Given the description of an element on the screen output the (x, y) to click on. 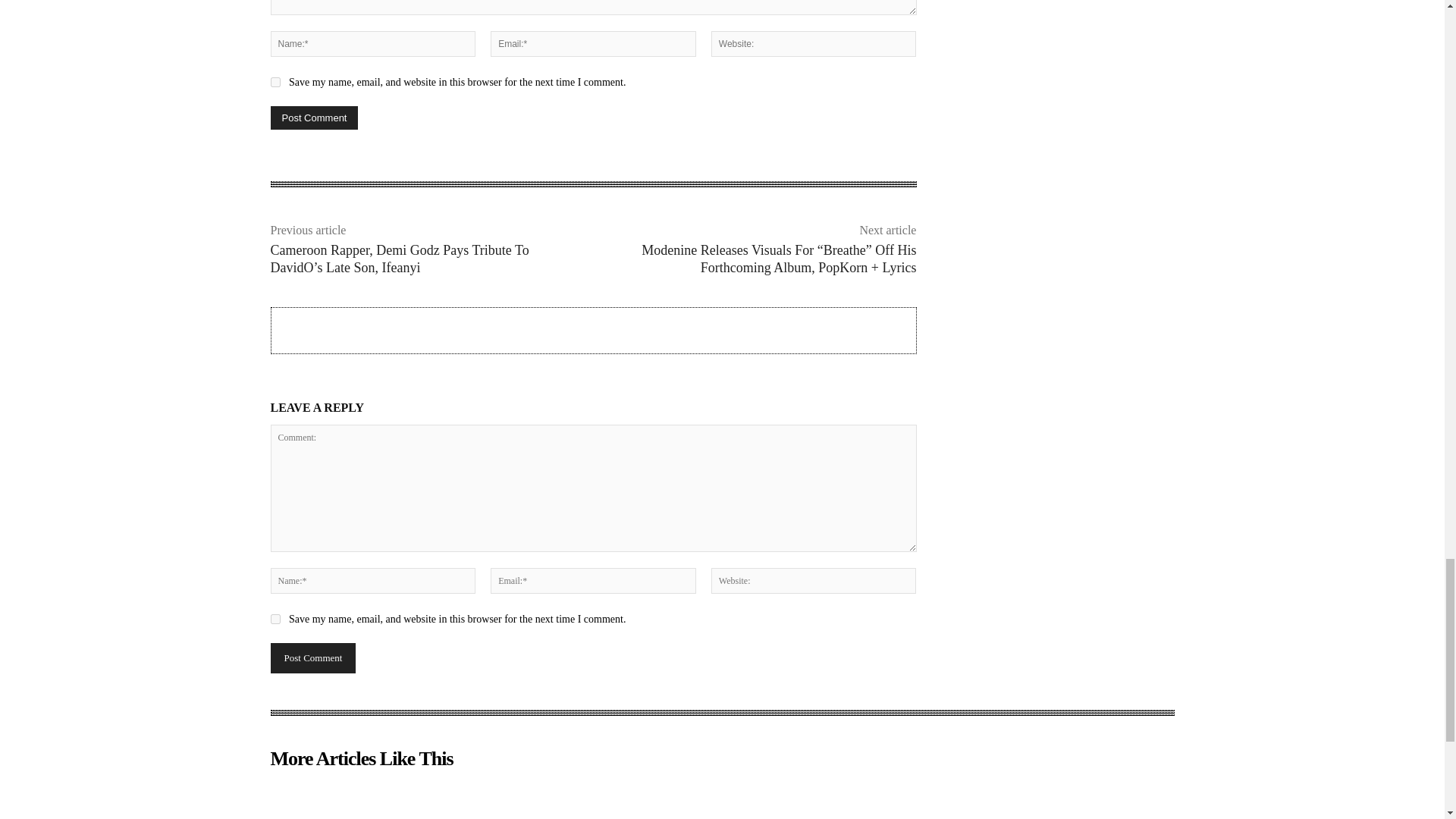
yes (274, 619)
yes (274, 81)
Post Comment (312, 657)
Post Comment (313, 117)
